Given the description of an element on the screen output the (x, y) to click on. 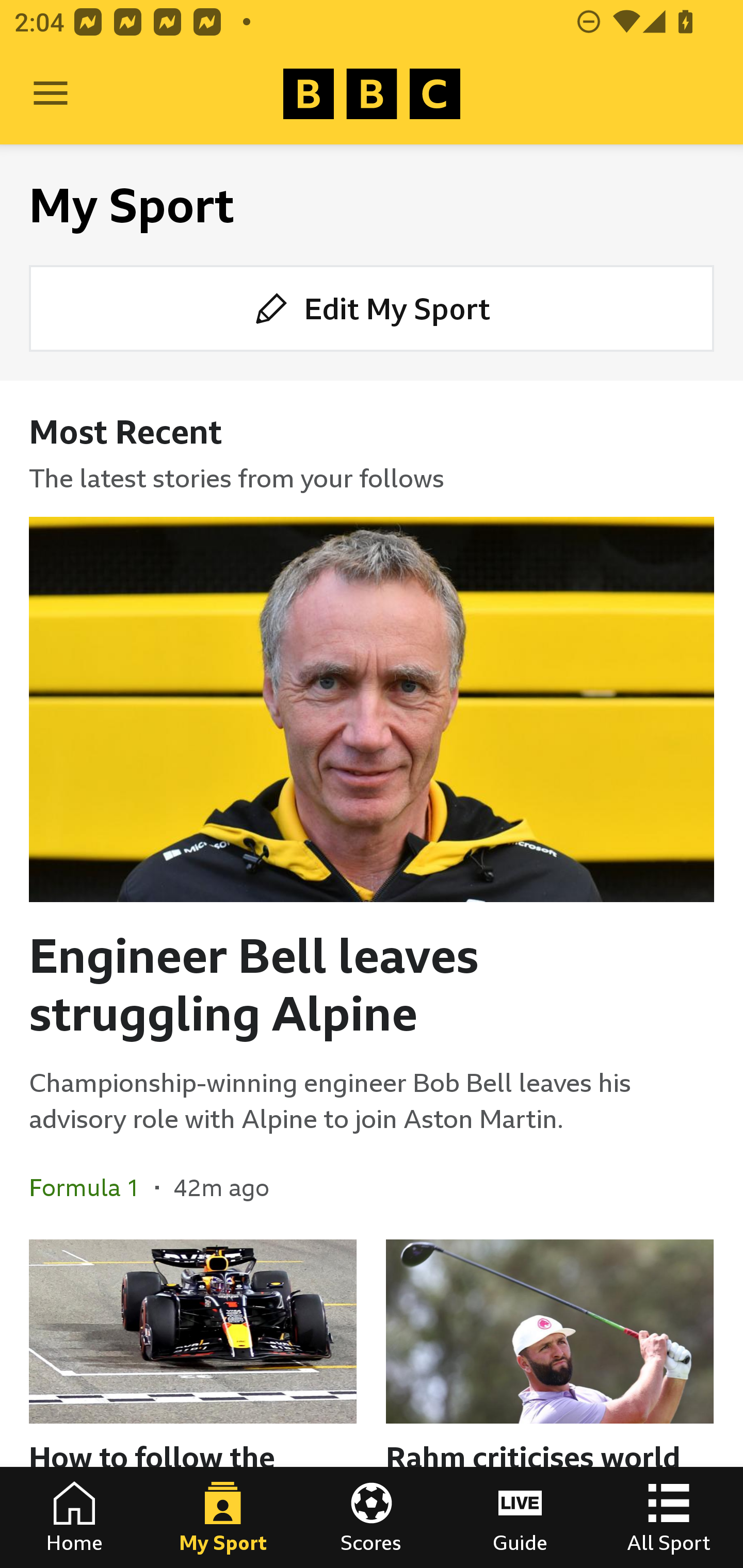
Open Menu (50, 93)
Edit My Sport (371, 307)
Home (74, 1517)
Scores (371, 1517)
Guide (519, 1517)
All Sport (668, 1517)
